Given the description of an element on the screen output the (x, y) to click on. 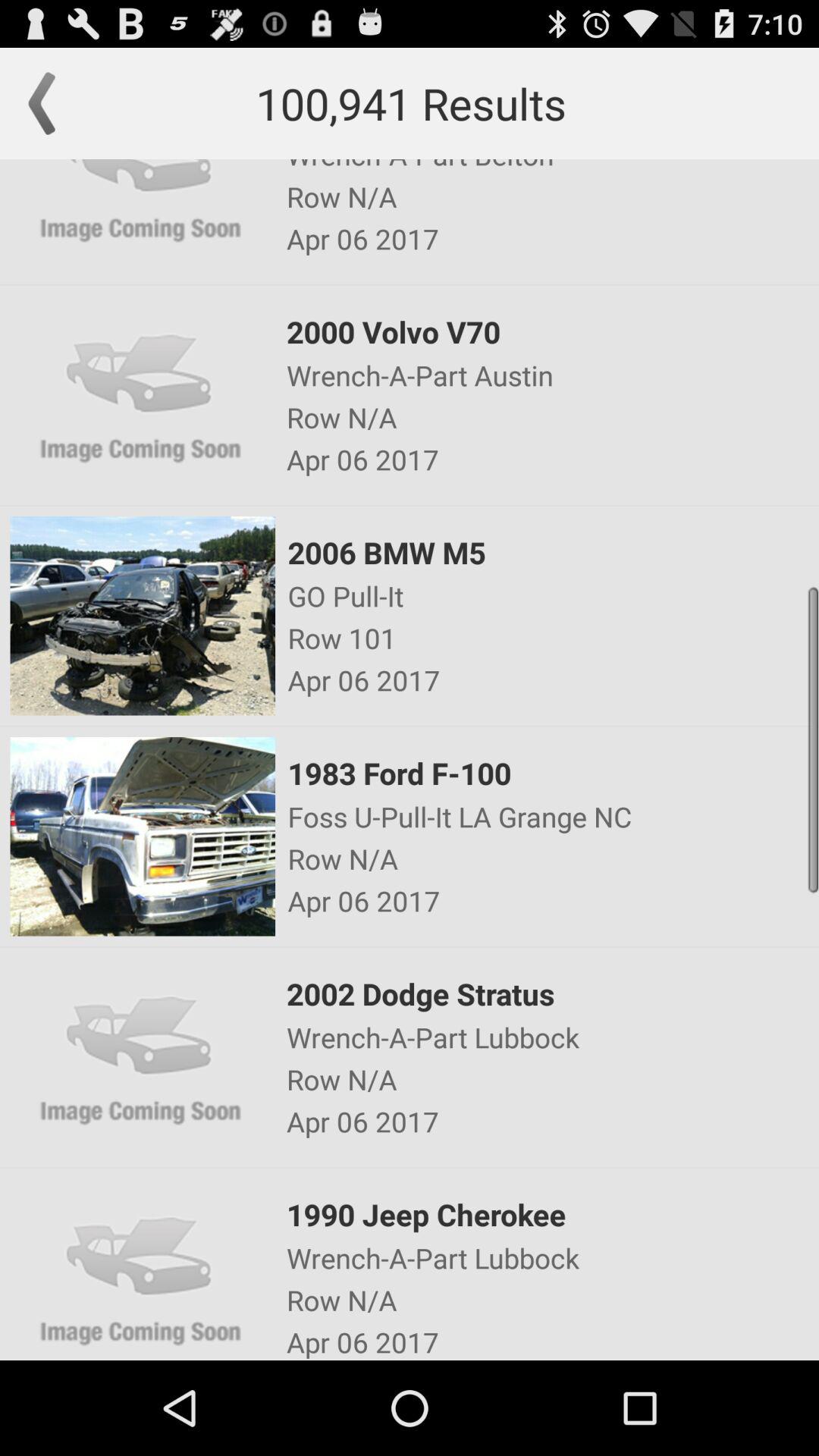
launch the icon above the wrench a part icon (551, 993)
